Given the description of an element on the screen output the (x, y) to click on. 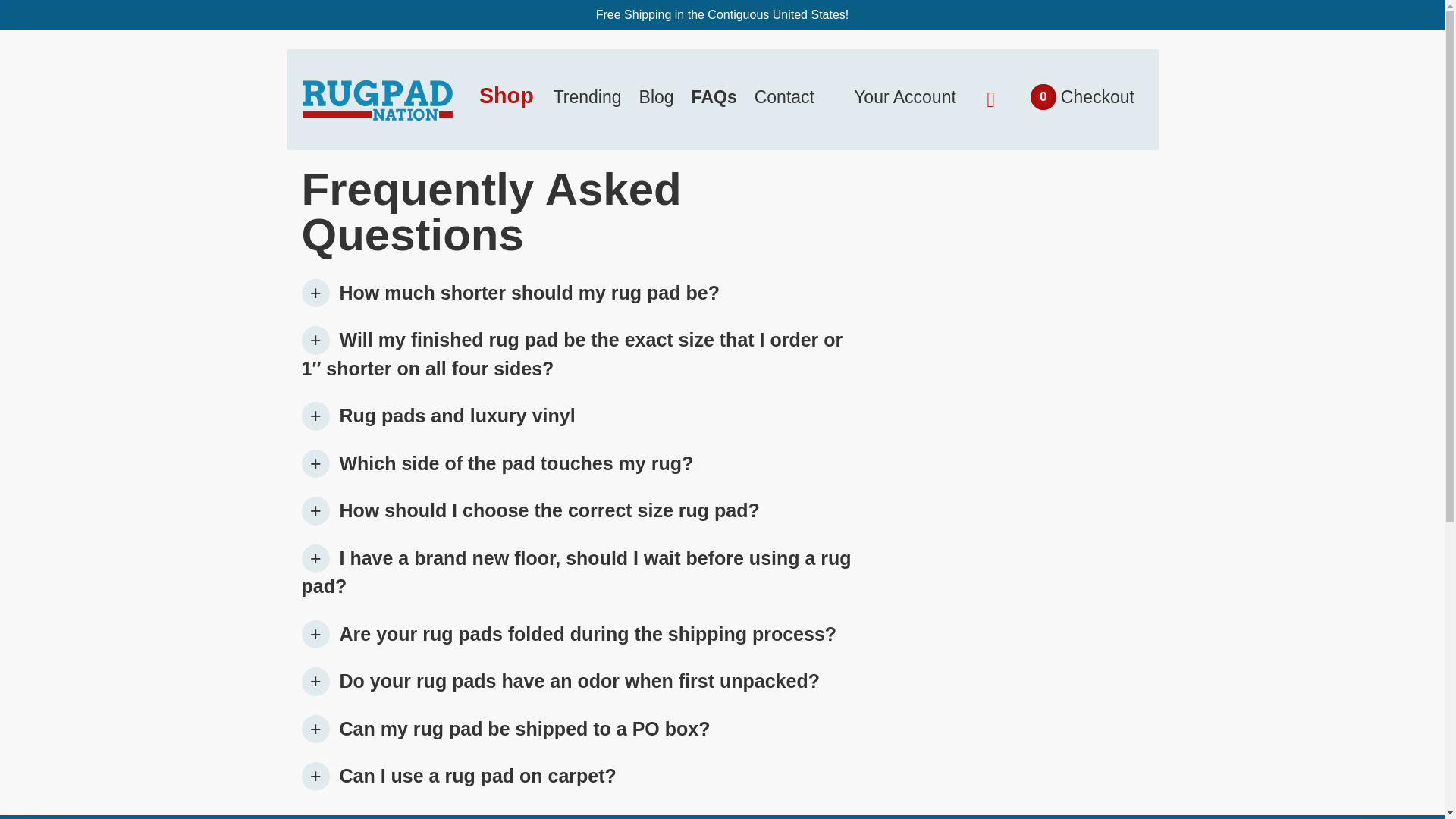
Your Account (904, 97)
Shop (1097, 97)
FAQs (506, 95)
Cart (713, 97)
Trending (991, 97)
View your shopping cart (587, 97)
Contact (991, 97)
Return to the RugPad Nation homepage (783, 97)
Blog (376, 103)
